Given the description of an element on the screen output the (x, y) to click on. 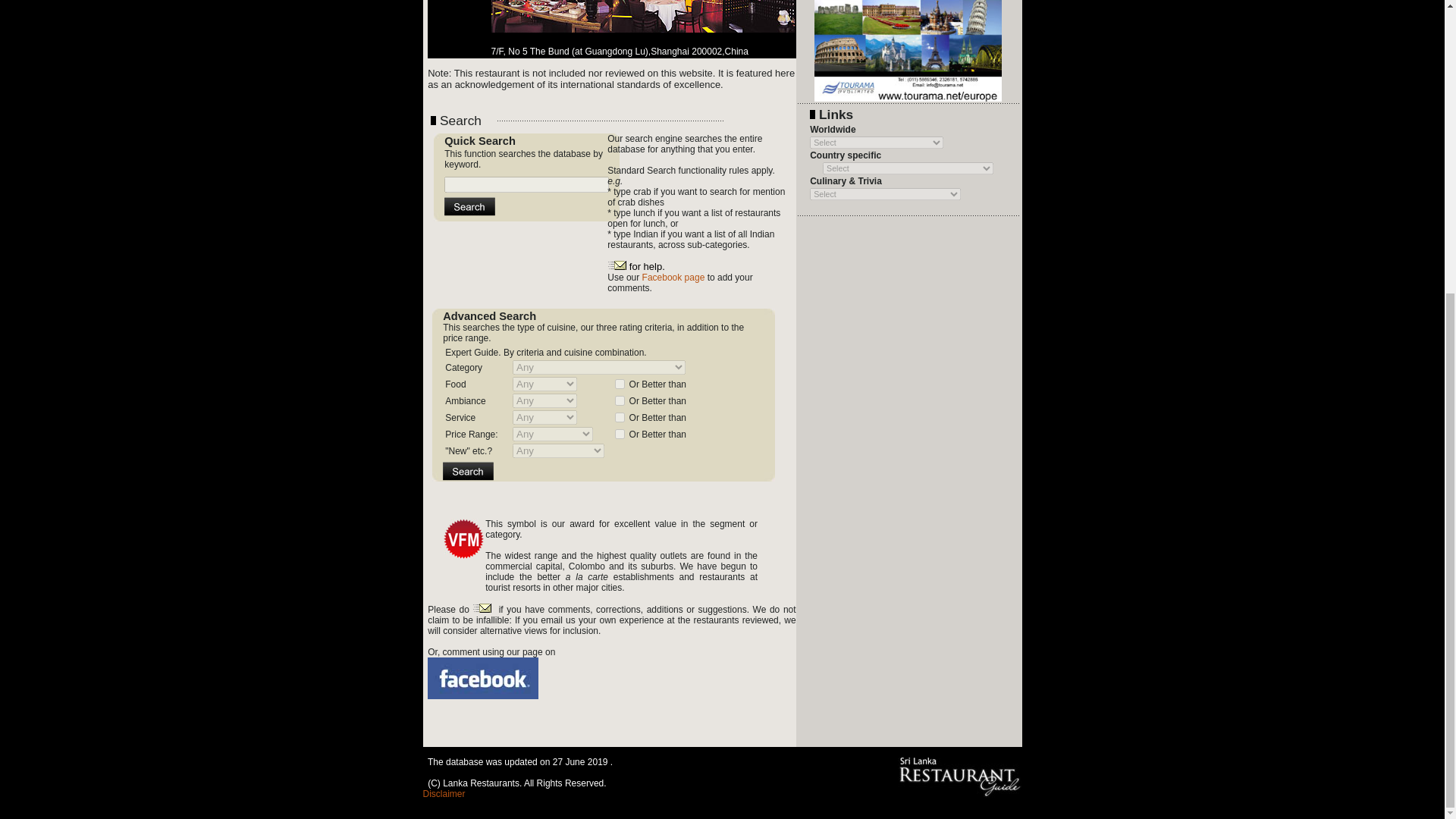
ON (619, 417)
ON (619, 384)
Opens Tourama Europe page (907, 27)
Disclaimer (444, 792)
ON (619, 433)
ON (619, 400)
Facebook page (673, 276)
